Given the description of an element on the screen output the (x, y) to click on. 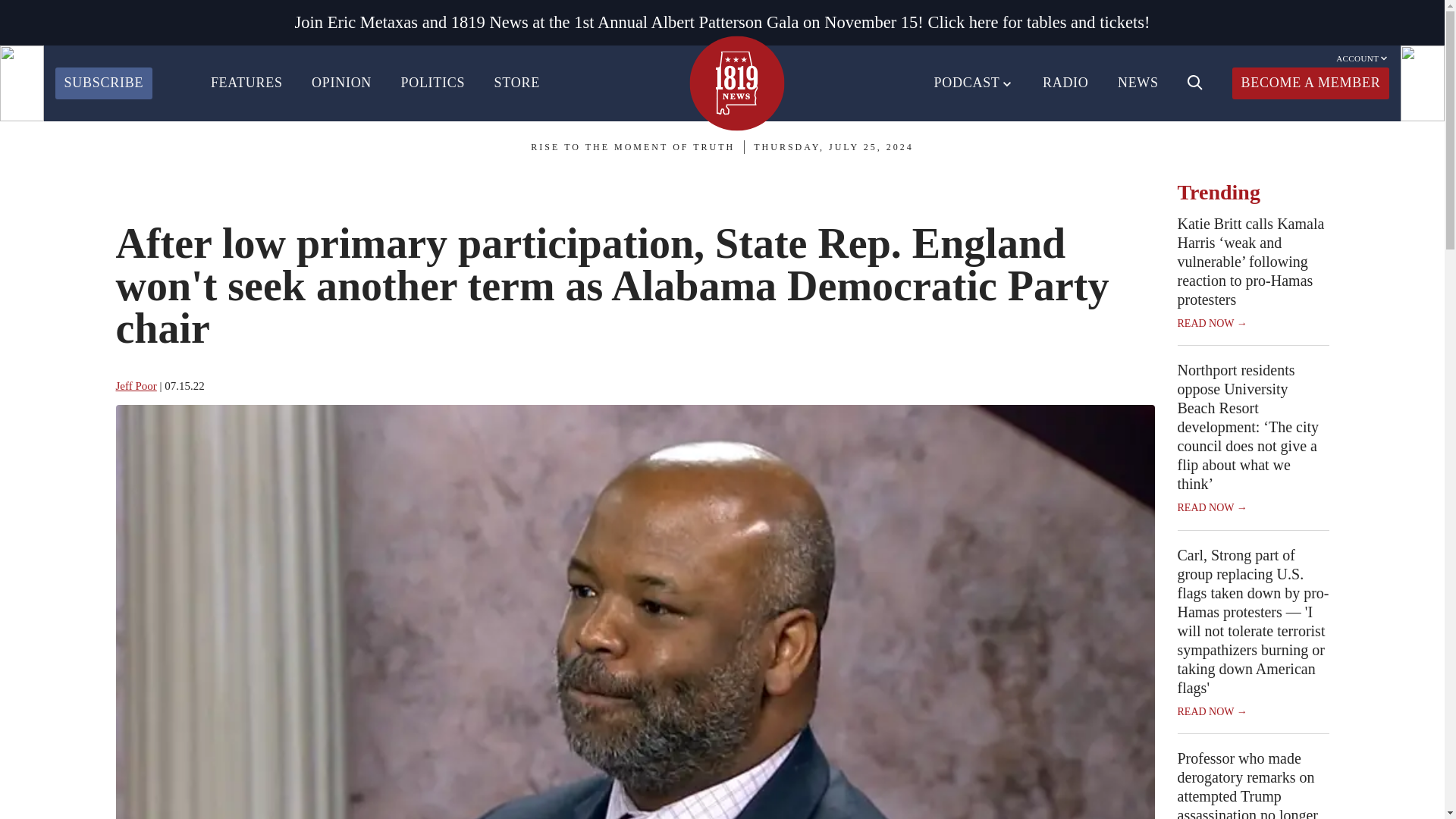
Politics (183, 186)
STORE (517, 83)
Jeff Poor (135, 386)
OPINION (341, 83)
RADIO (1065, 83)
FEATURES (246, 83)
BECOME A MEMBER (1310, 83)
PODCAST (973, 83)
HOMEPAGE (736, 83)
NEWS (1138, 83)
News (134, 186)
POLITICS (432, 83)
SUBSCRIBE (103, 83)
